Given the description of an element on the screen output the (x, y) to click on. 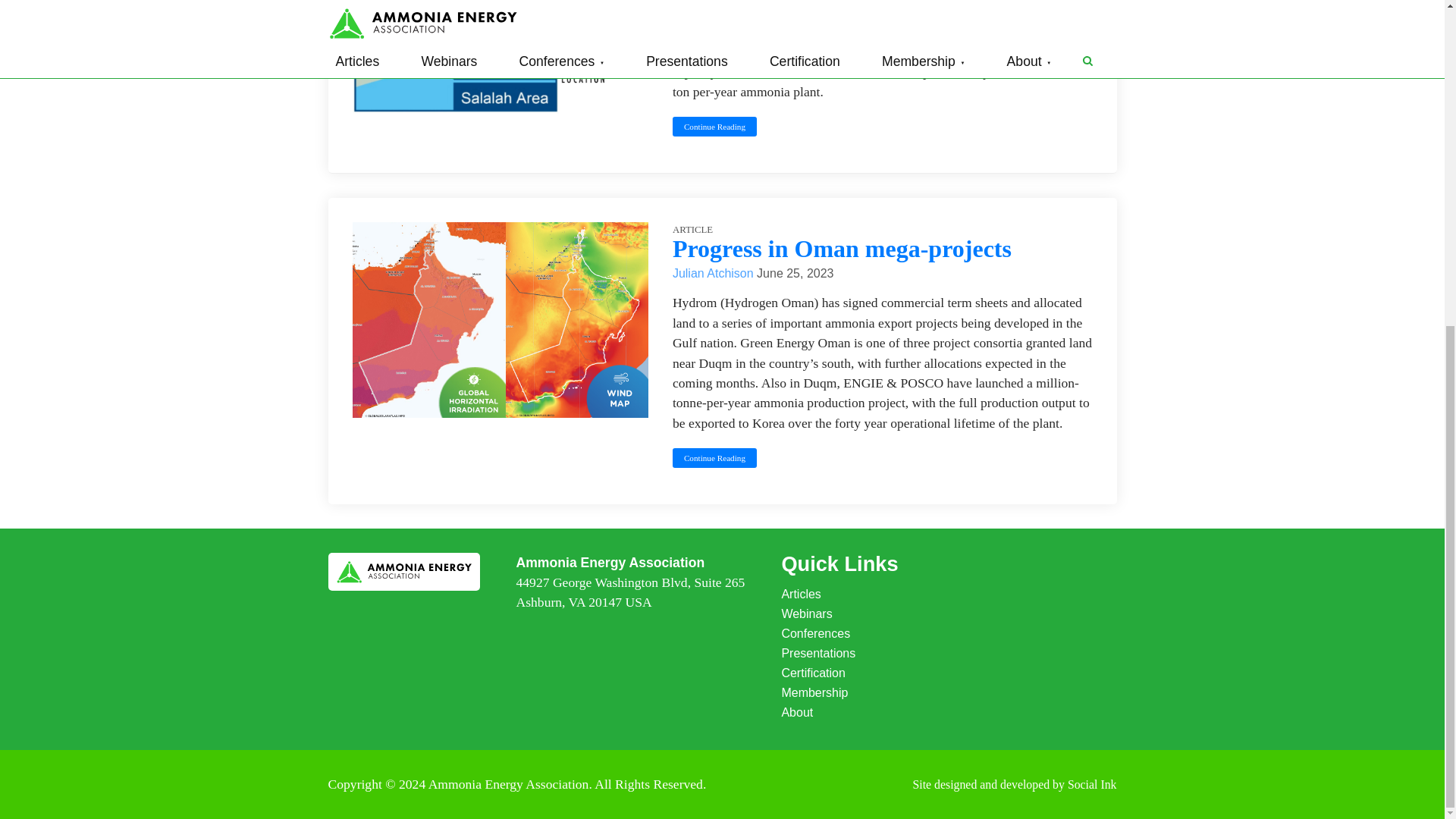
Permanent Link to Progress in Oman mega-projects (499, 413)
Julian Atchison (714, 273)
Progress in Oman mega-projects (841, 248)
Continue Reading (714, 126)
Permanent Link to Progress in Oman mega-projects (841, 248)
